Given the description of an element on the screen output the (x, y) to click on. 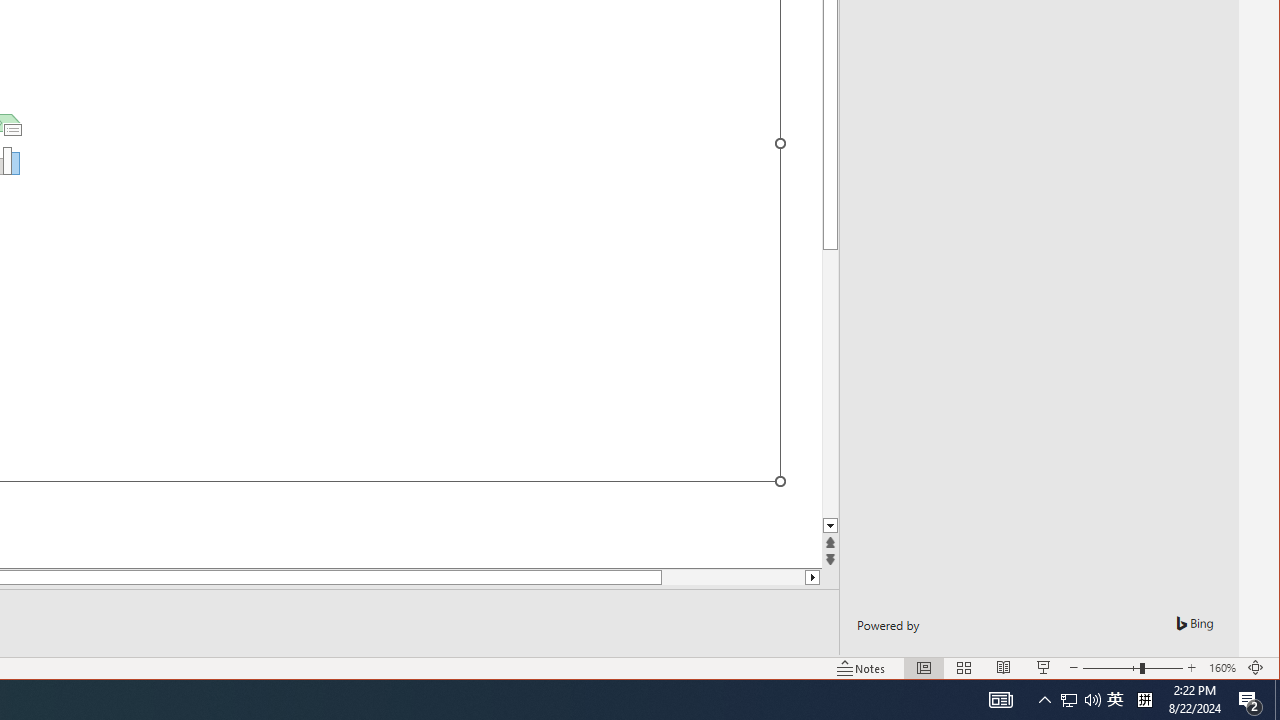
Notification Chevron (1115, 699)
Zoom 160% (1044, 699)
